Given the description of an element on the screen output the (x, y) to click on. 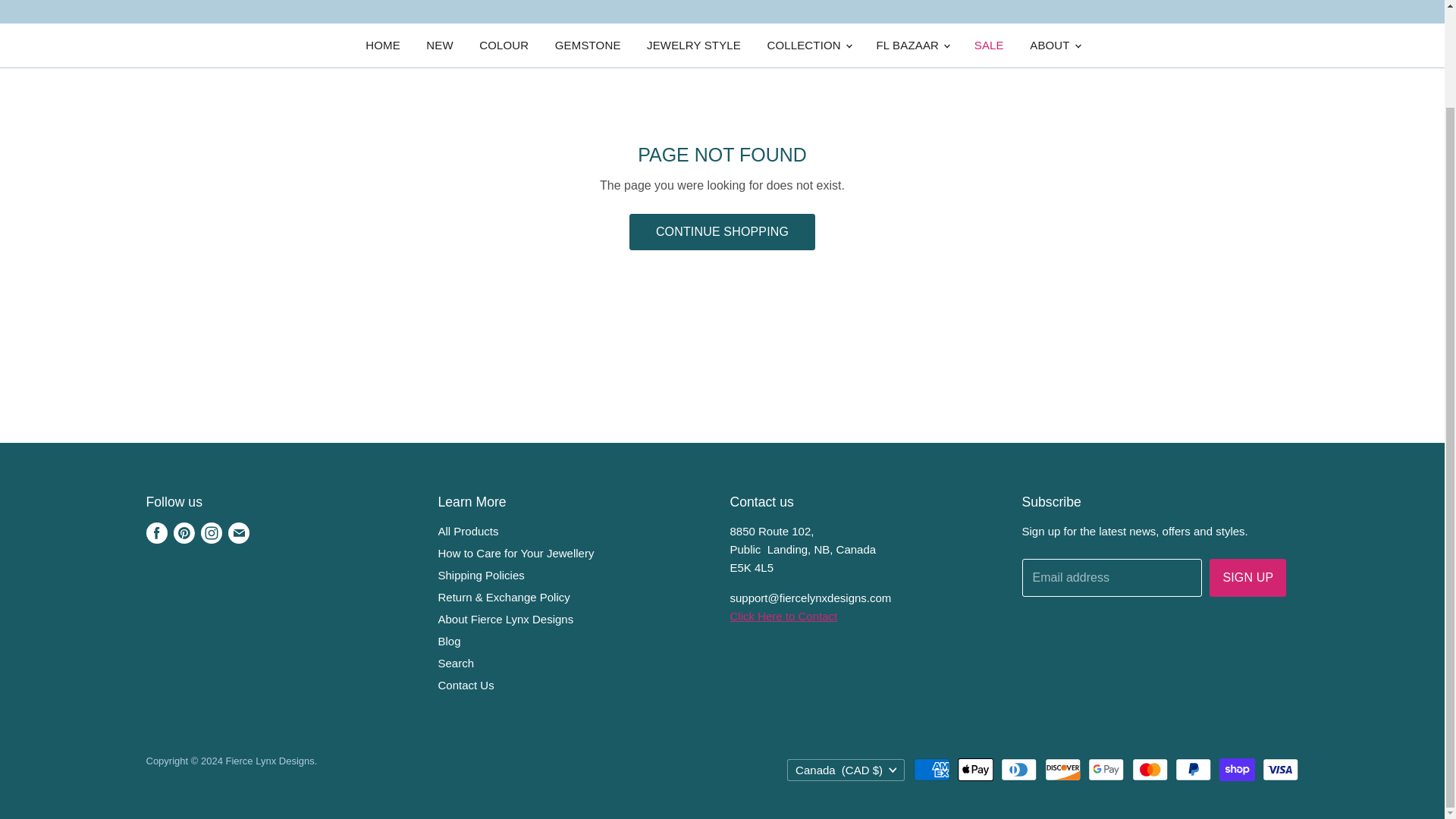
NEW (439, 45)
SALE (988, 45)
COLOUR (503, 45)
E-mail (237, 533)
HOME (382, 45)
Instagram (210, 533)
ABOUT (1053, 45)
Facebook (156, 533)
FL BAZAAR (911, 45)
JEWELRY STYLE (693, 45)
COLLECTION (808, 45)
Pinterest (183, 533)
GEMSTONE (587, 45)
